Given the description of an element on the screen output the (x, y) to click on. 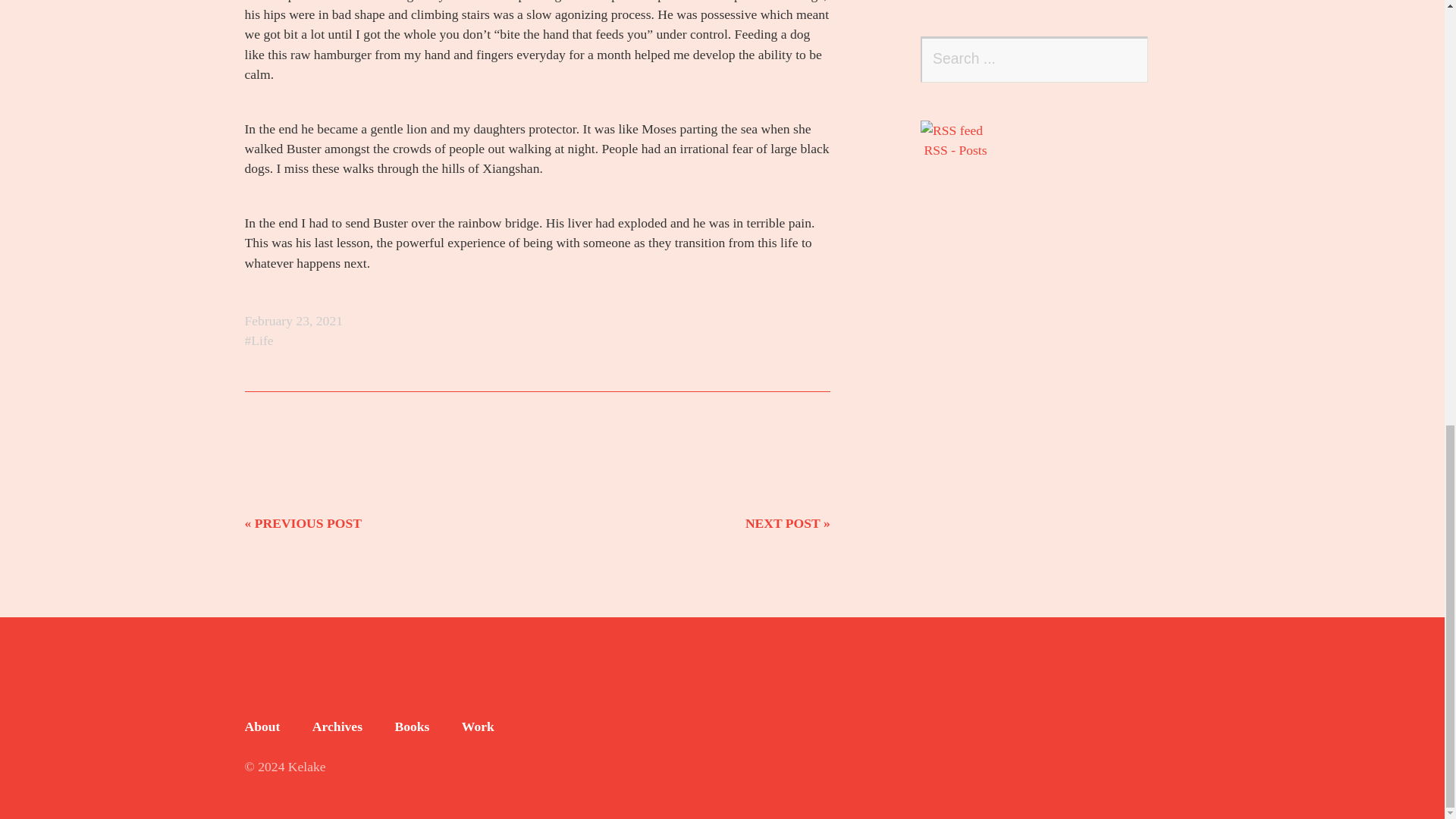
About (261, 726)
 RSS - Posts (1056, 139)
Work (478, 726)
February 23, 2021 (293, 320)
modafinil200mg.net (301, 706)
Archives (337, 726)
Top (1183, 768)
Life (258, 340)
Search (1126, 59)
Search (1126, 59)
Subscribe to posts (1056, 139)
Books (411, 726)
